Given the description of an element on the screen output the (x, y) to click on. 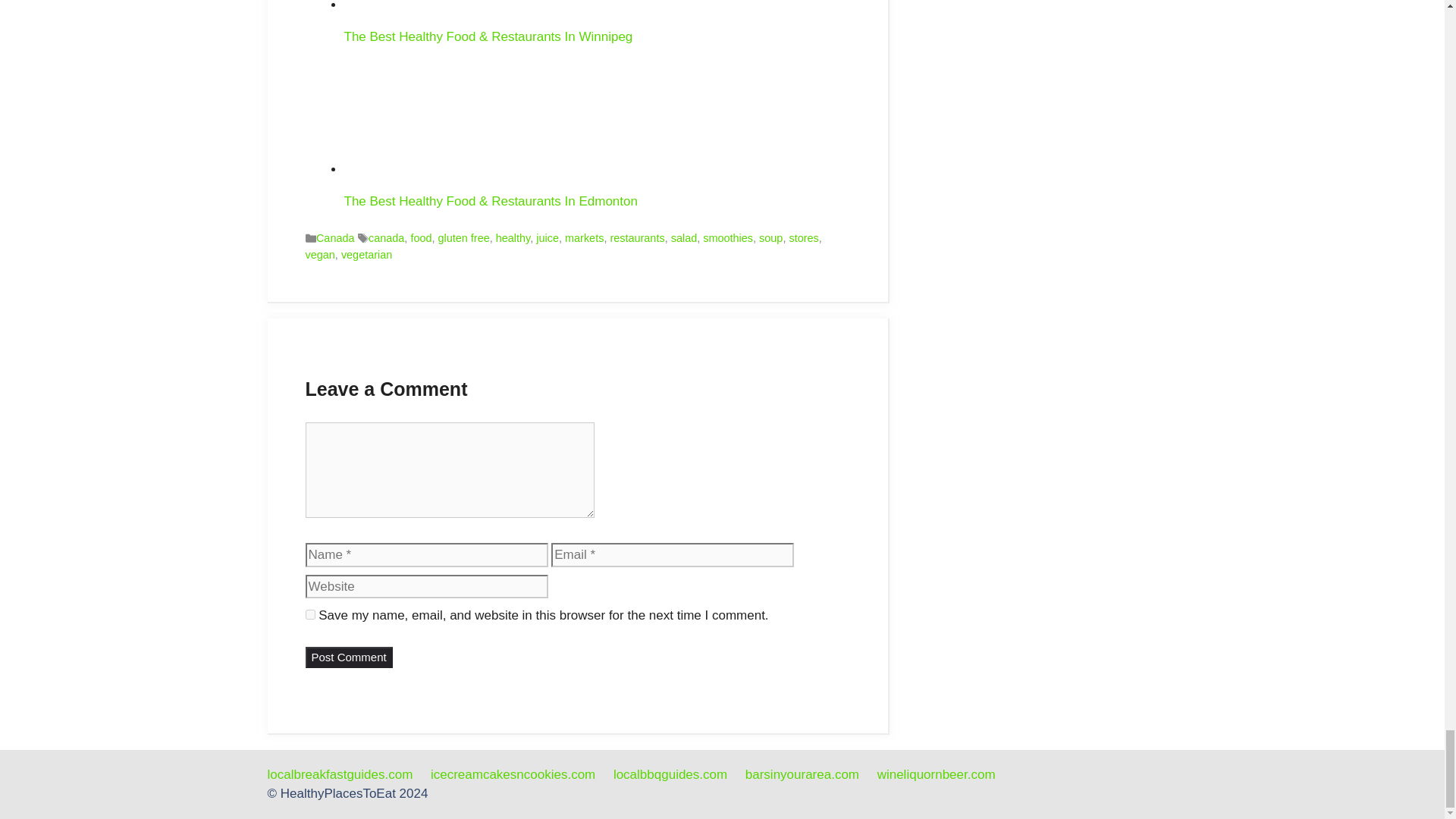
yes (309, 614)
Post Comment (347, 658)
